Given the description of an element on the screen output the (x, y) to click on. 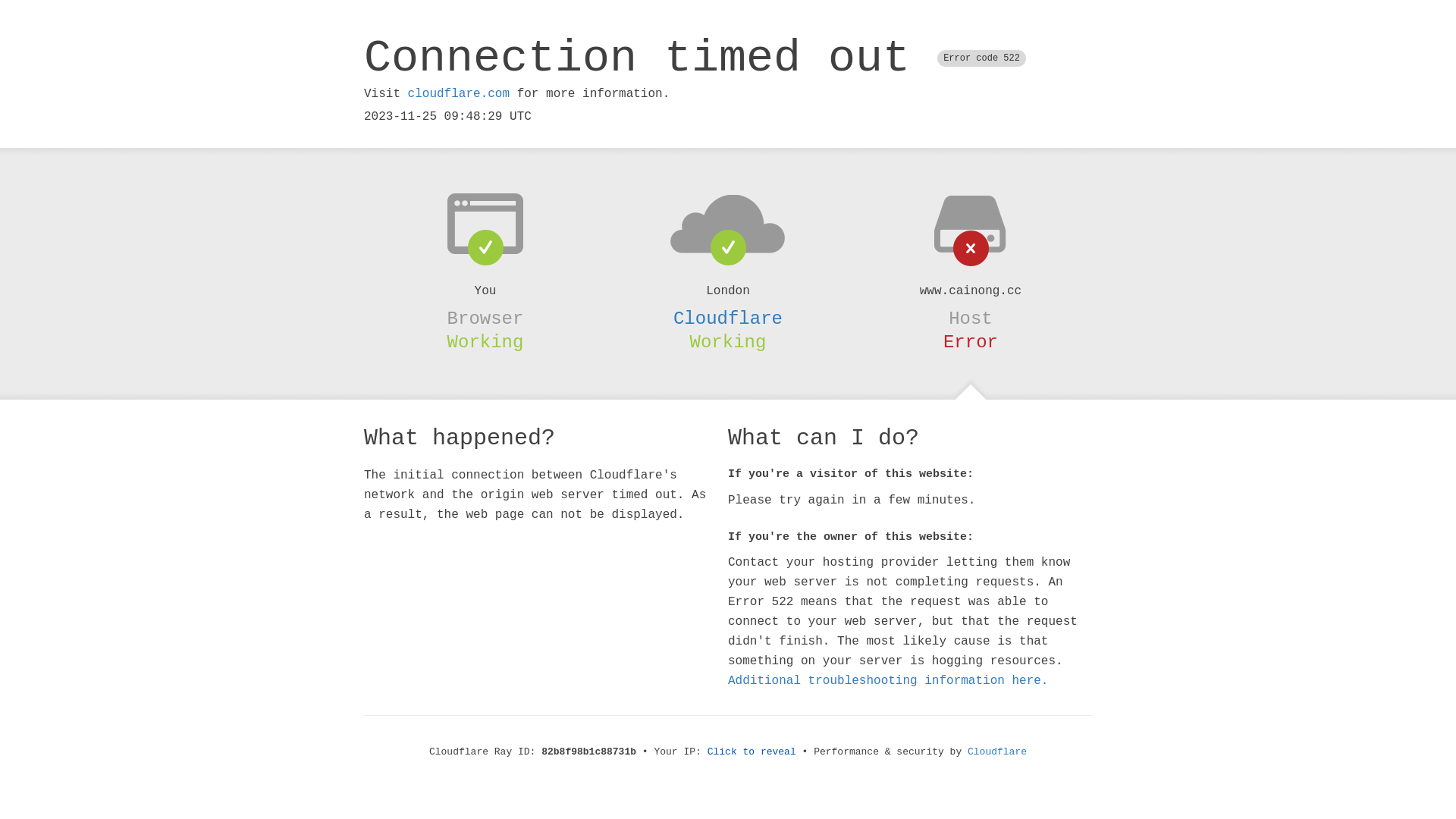
Additional troubleshooting information here. Element type: text (888, 680)
Click to reveal Element type: text (751, 751)
Cloudflare Element type: text (727, 318)
Cloudflare Element type: text (996, 751)
cloudflare.com Element type: text (458, 93)
